Given the description of an element on the screen output the (x, y) to click on. 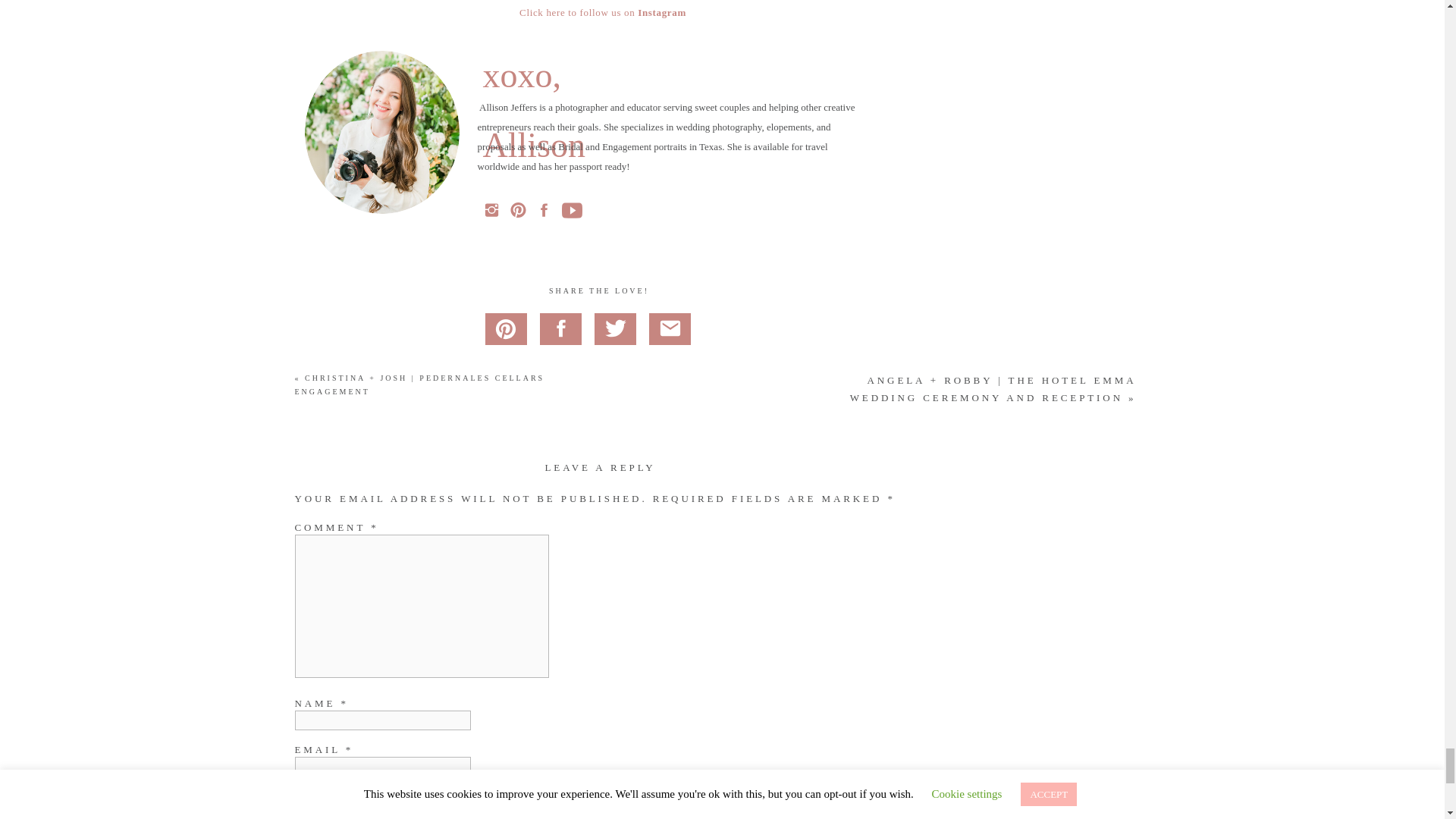
Click here to follow us on Instagram (602, 12)
